Given the description of an element on the screen output the (x, y) to click on. 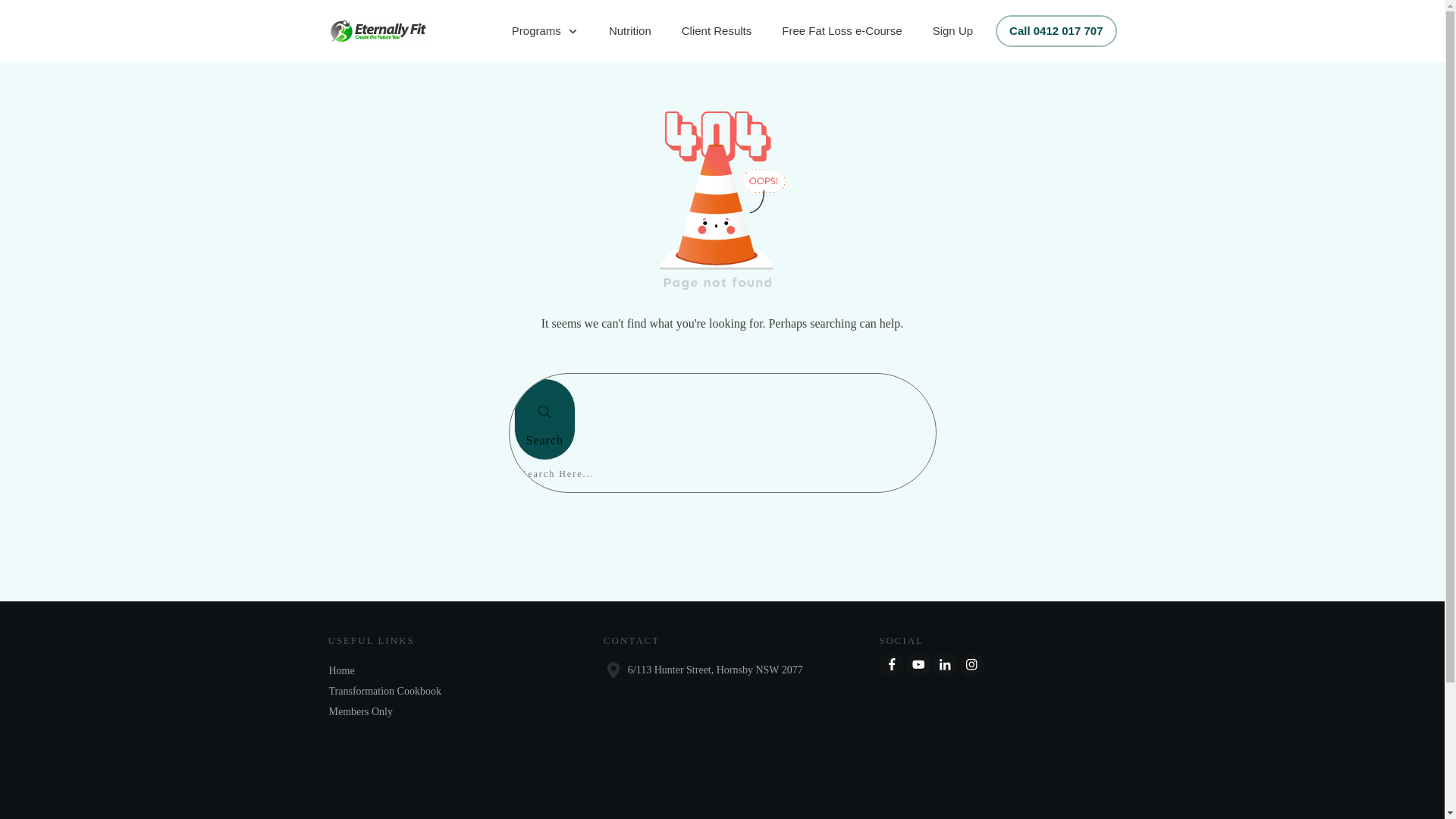
Sign Up Element type: text (952, 30)
Programs Element type: text (544, 30)
404 img alpha-8 (1) Element type: hover (722, 195)
Call 0412 017 707 Element type: text (1055, 30)
Search Element type: text (545, 419)
Members Only Element type: text (360, 711)
Client Results Element type: text (716, 30)
Free Fat Loss e-Course Element type: text (841, 30)
Transformation Cookbook Element type: text (385, 690)
Nutrition Element type: text (629, 30)
Home Element type: text (341, 670)
